Given the description of an element on the screen output the (x, y) to click on. 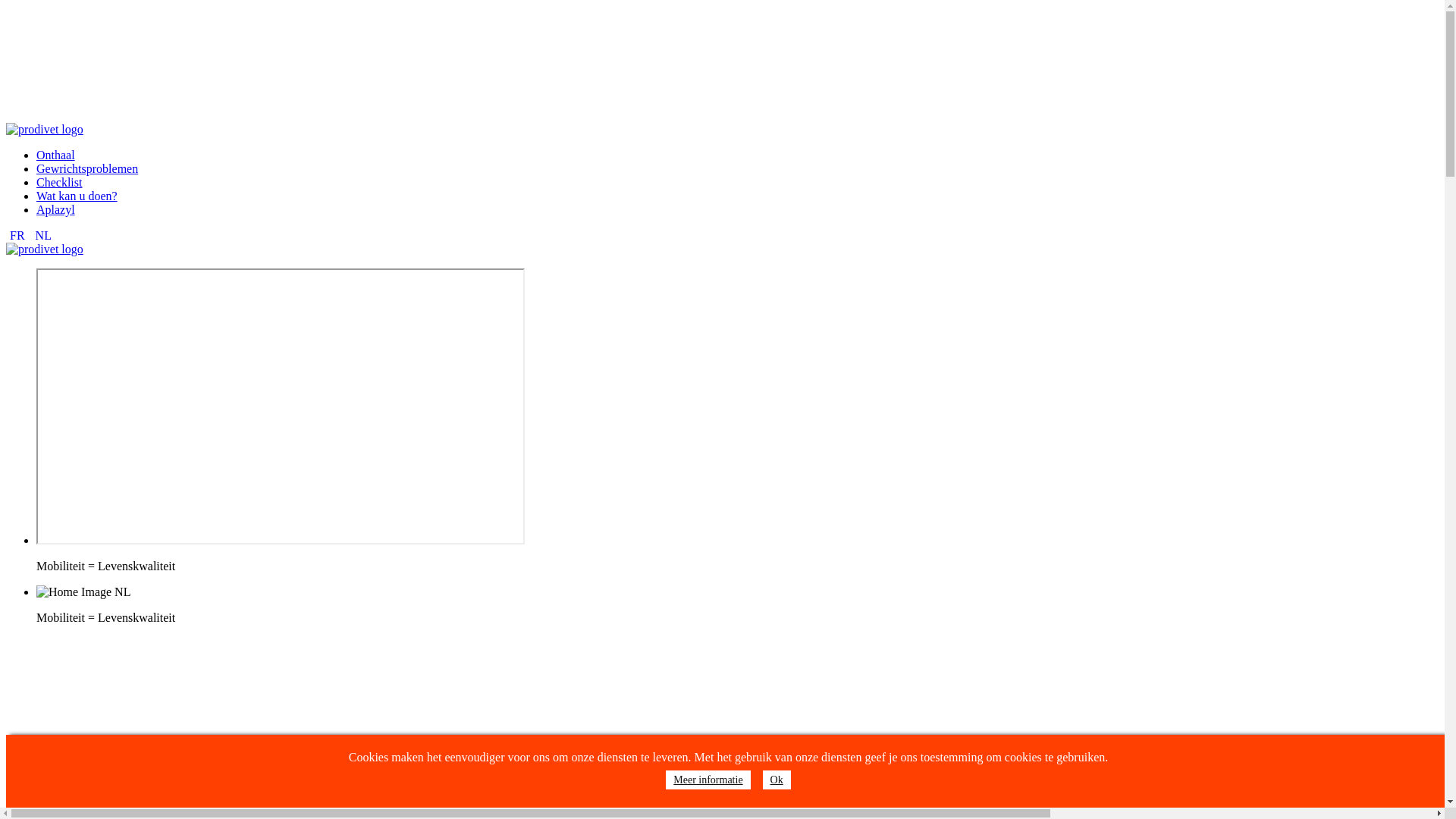
Wat kan u doen? Element type: text (76, 195)
Onthaal Element type: text (55, 154)
Meer informatie Element type: text (707, 779)
Checklist Element type: text (58, 181)
Aplazyl Element type: text (55, 209)
Gewrichtsproblemen Element type: text (87, 168)
FR Element type: text (18, 235)
Ok Element type: text (776, 779)
NL Element type: text (43, 235)
